Given the description of an element on the screen output the (x, y) to click on. 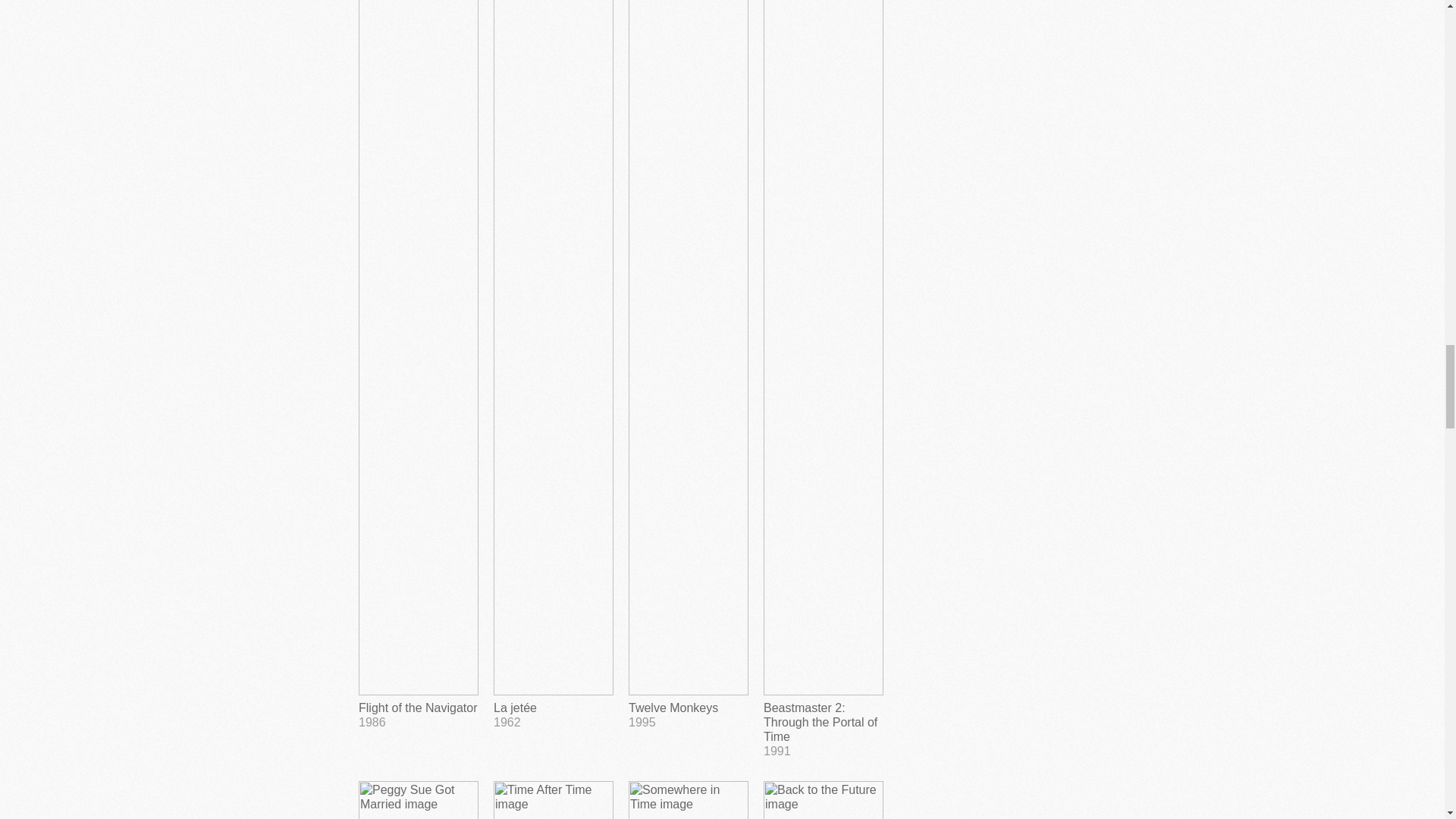
Peggy Sue Got Married (552, 800)
